Given the description of an element on the screen output the (x, y) to click on. 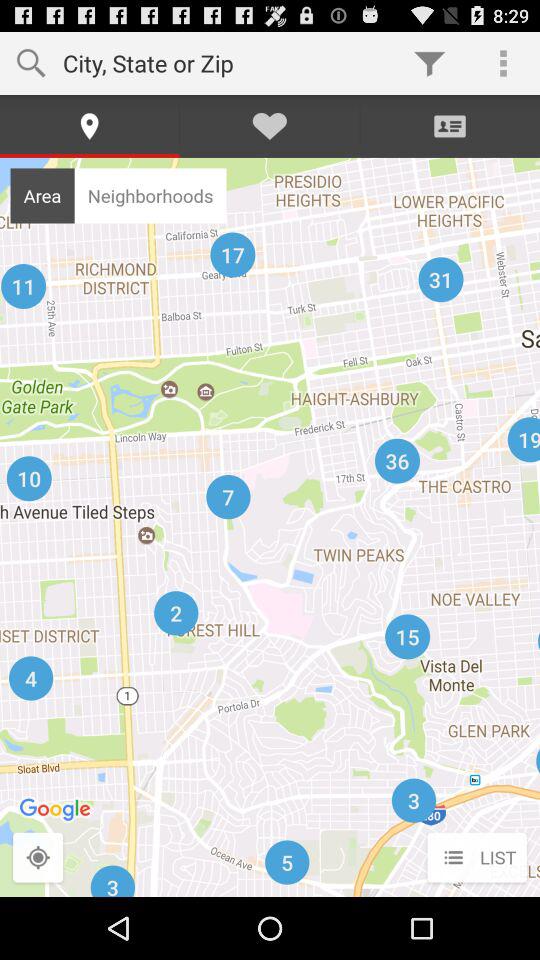
turn on icon next to the city state or app (429, 62)
